Given the description of an element on the screen output the (x, y) to click on. 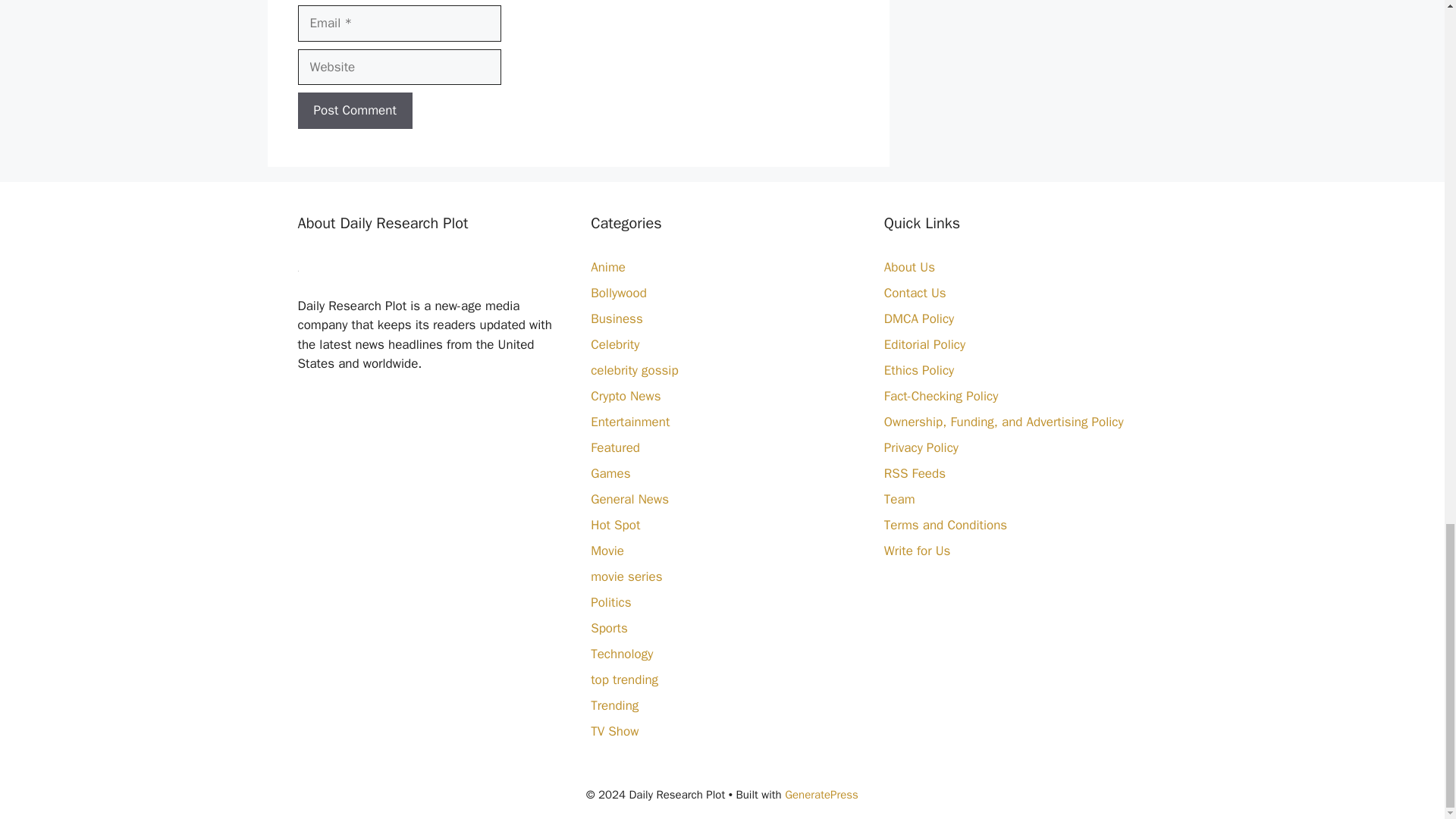
Post Comment (354, 110)
Scroll back to top (1406, 60)
Business (617, 318)
Bollywood (618, 293)
Post Comment (354, 110)
Anime (608, 267)
